Given the description of an element on the screen output the (x, y) to click on. 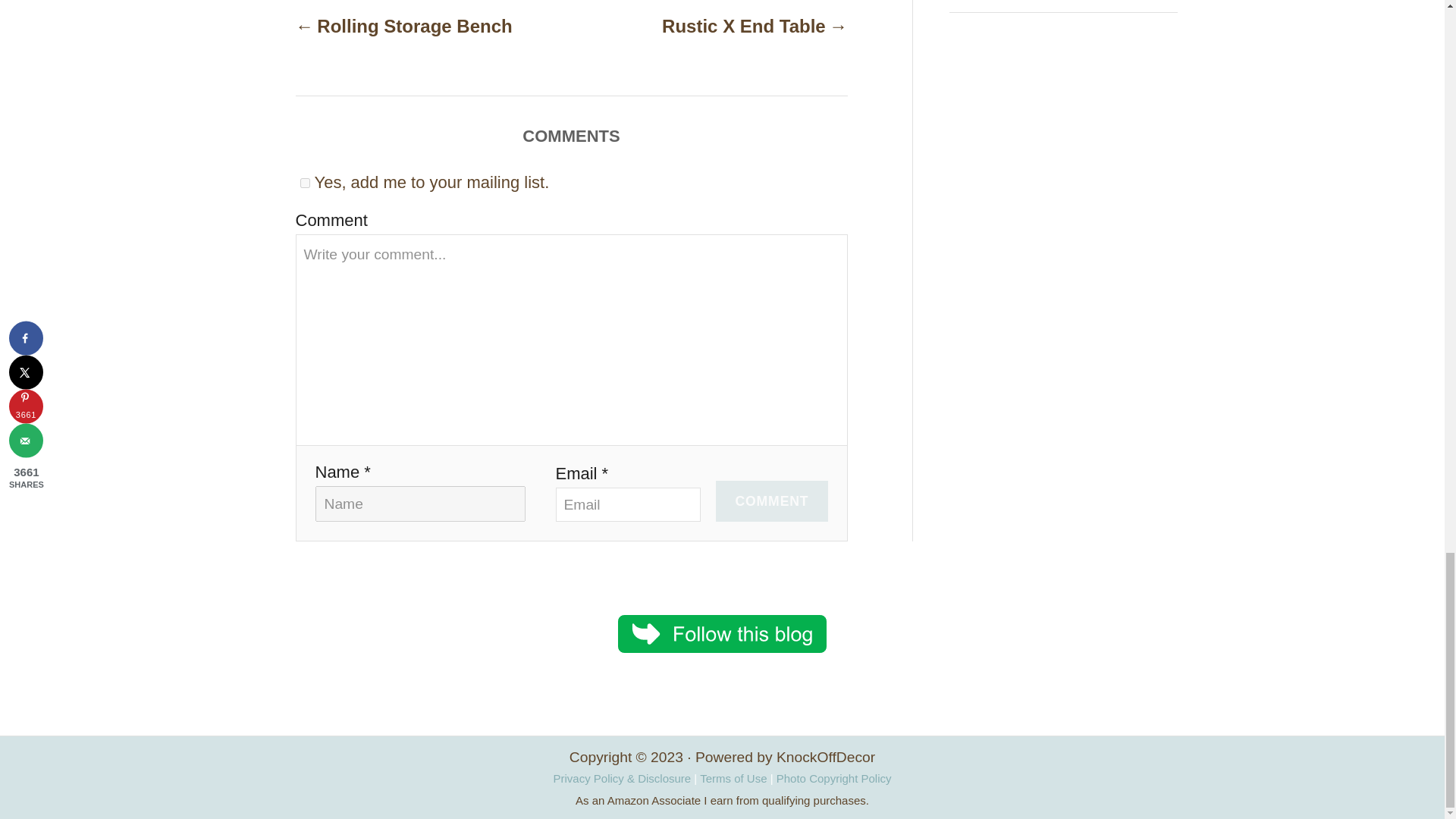
1 (304, 183)
